Given the description of an element on the screen output the (x, y) to click on. 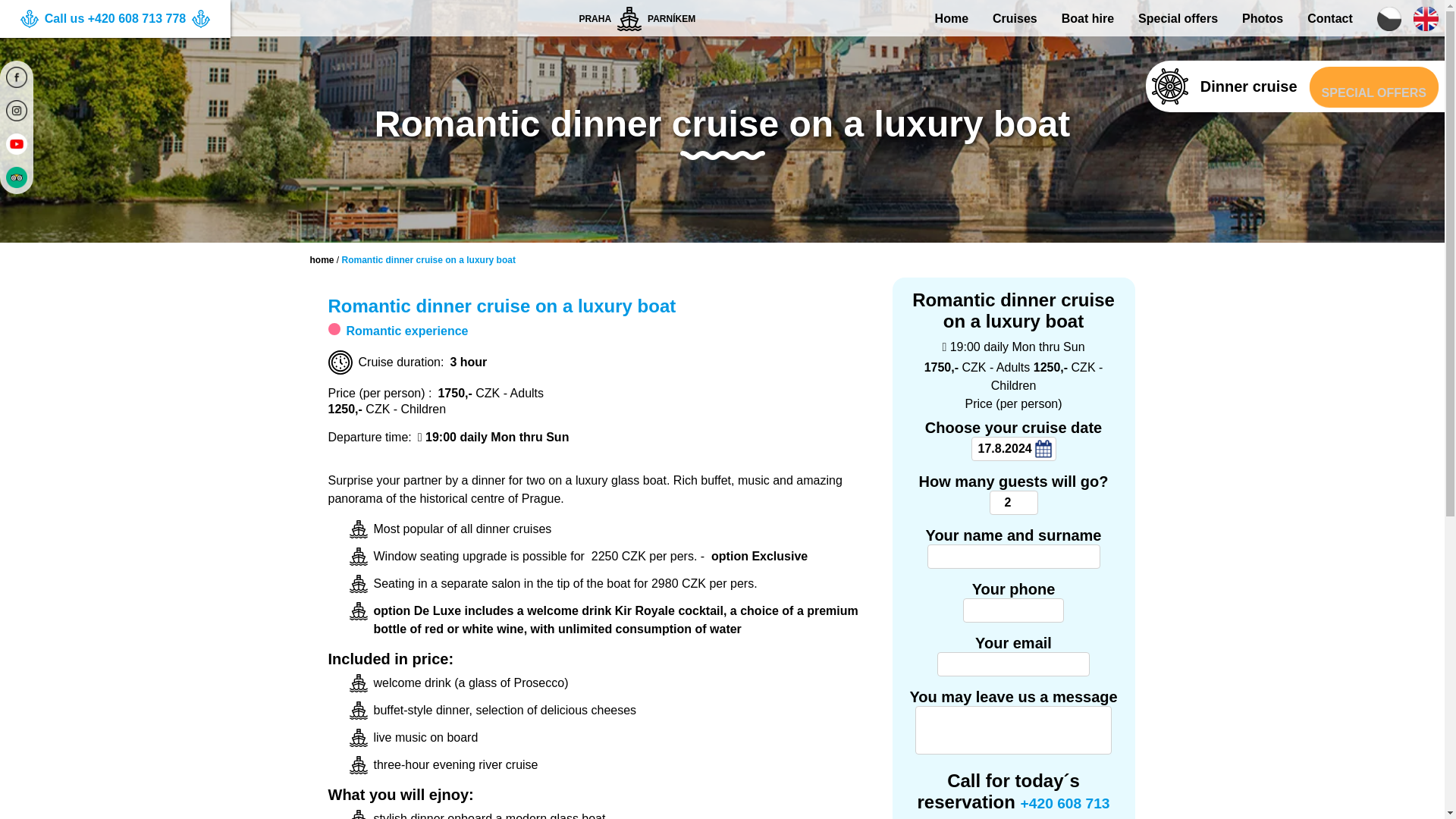
Boat hire (1087, 18)
2 (1012, 502)
Romantic dinner cruise on a luxury boat (428, 259)
Home (951, 18)
Romantic experience (397, 330)
Contact (1329, 18)
Photos (1262, 18)
home (320, 259)
17.8.2024 (1013, 448)
Special offers (1178, 18)
